Given the description of an element on the screen output the (x, y) to click on. 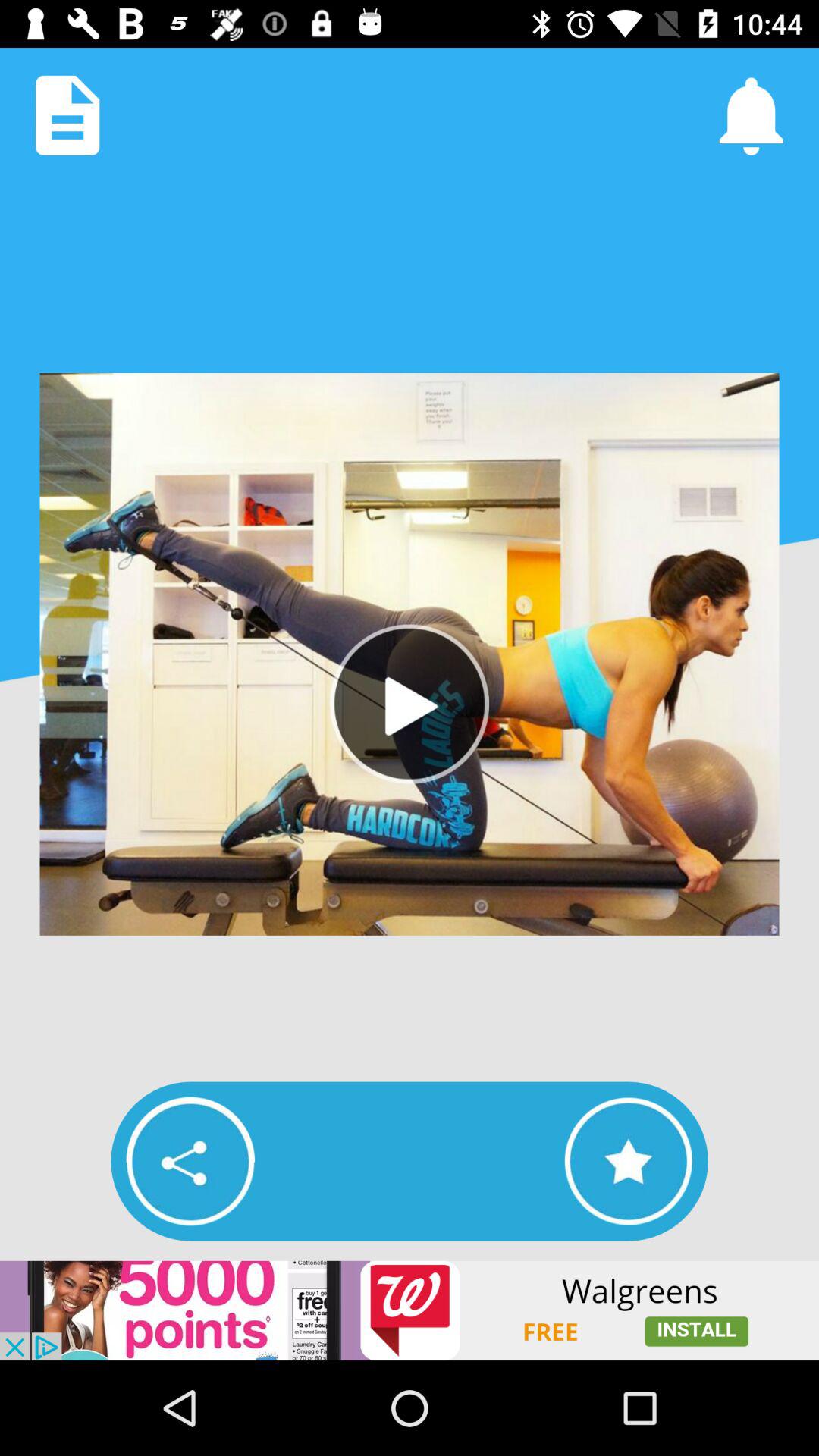
add to favorite (628, 1161)
